Given the description of an element on the screen output the (x, y) to click on. 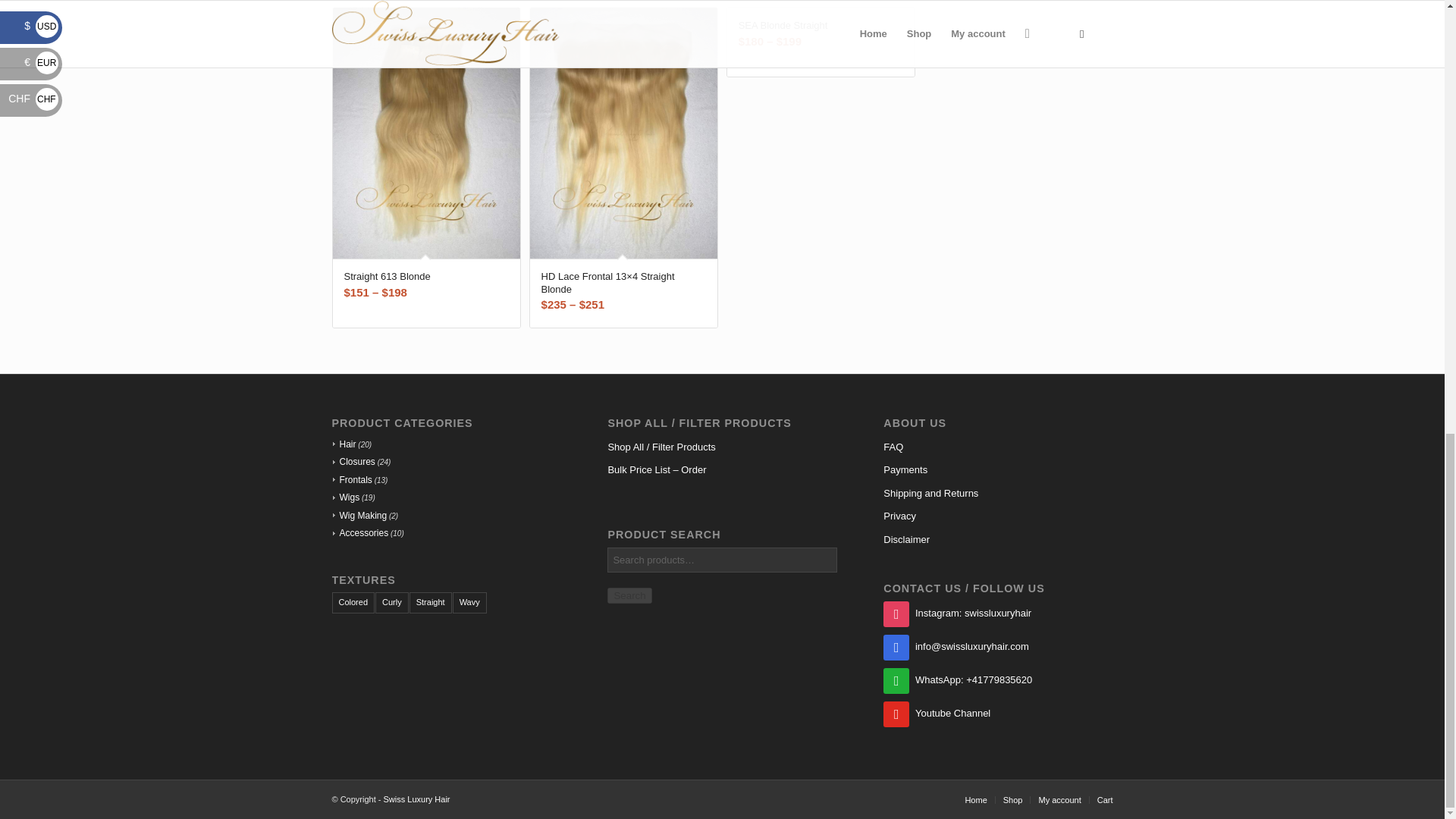
Closures (352, 461)
Hair (343, 443)
Frontals (351, 480)
